Given the description of an element on the screen output the (x, y) to click on. 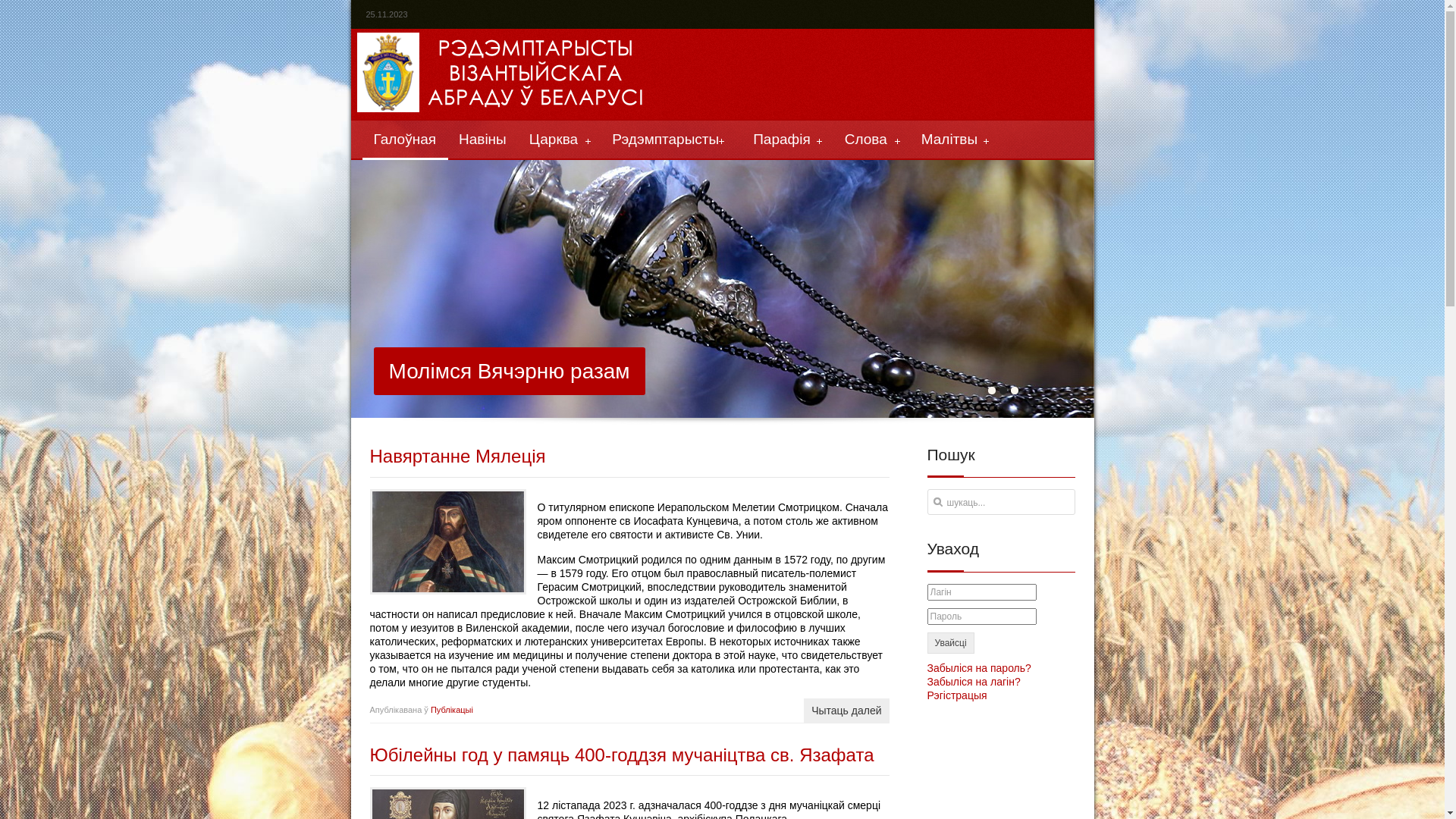
Reset Element type: text (3, 3)
